Given the description of an element on the screen output the (x, y) to click on. 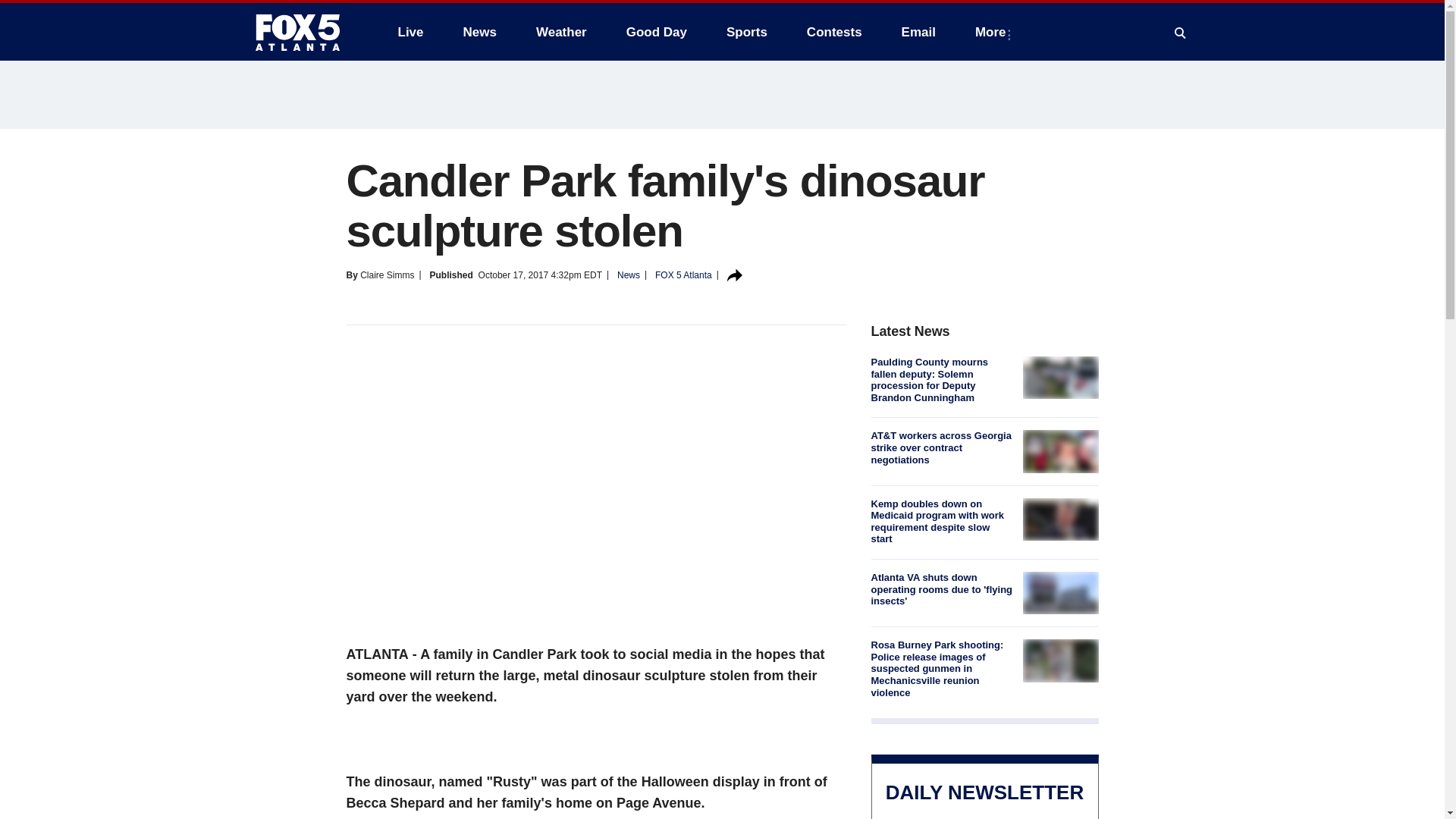
Contests (834, 32)
Weather (561, 32)
Live (410, 32)
Email (918, 32)
News (479, 32)
Good Day (656, 32)
Sports (746, 32)
More (993, 32)
